Given the description of an element on the screen output the (x, y) to click on. 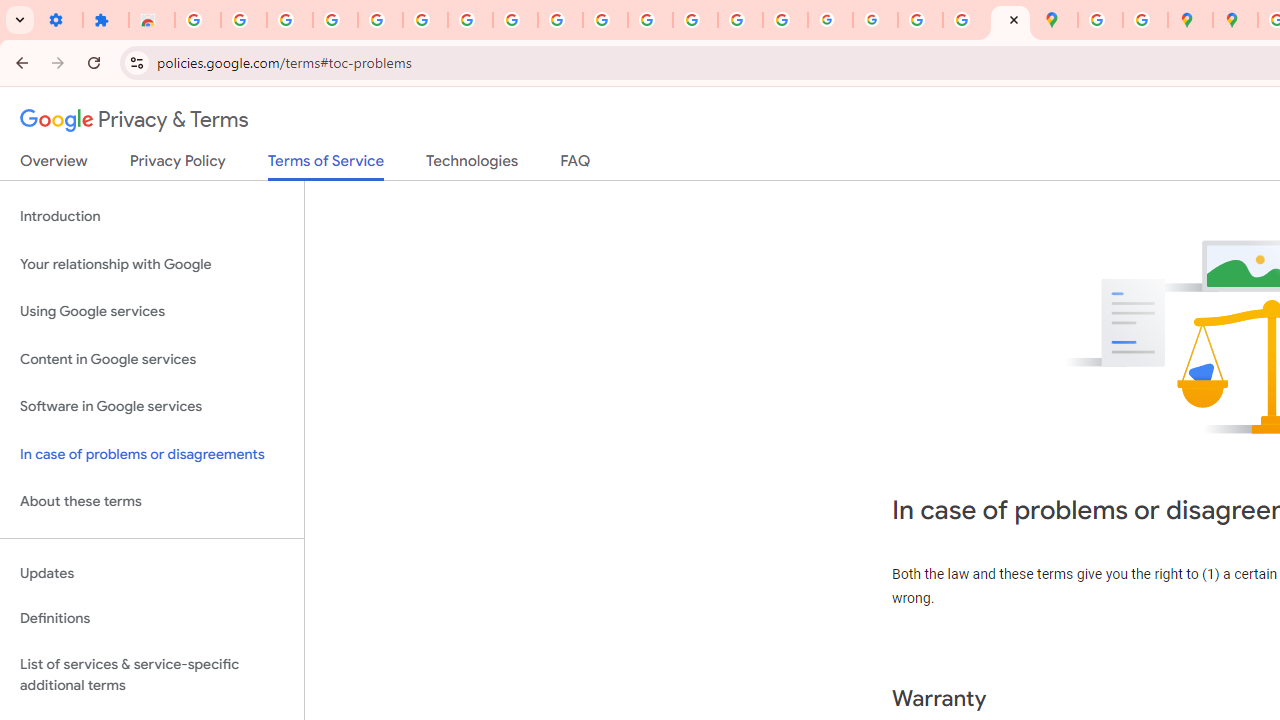
Software in Google services (152, 407)
Google Maps (1055, 20)
Your relationship with Google (152, 263)
YouTube (559, 20)
Google Account (514, 20)
